Given the description of an element on the screen output the (x, y) to click on. 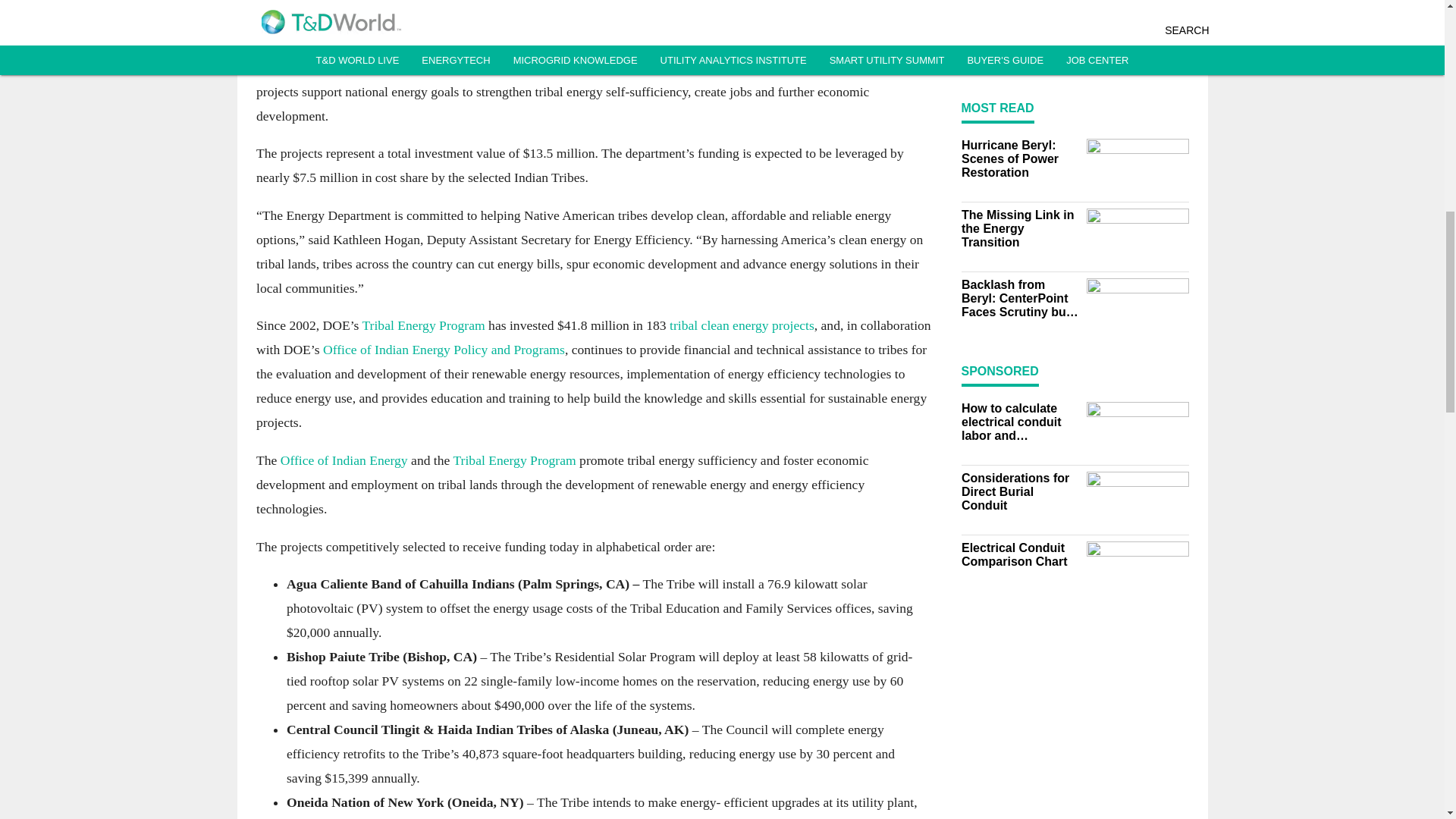
Tribal Energy Program (422, 324)
Office of Indian Energy Policy and Programs (442, 349)
tribal clean energy projects (741, 324)
Office of Indian Energy (343, 459)
Tribal Energy Program (513, 459)
